Given the description of an element on the screen output the (x, y) to click on. 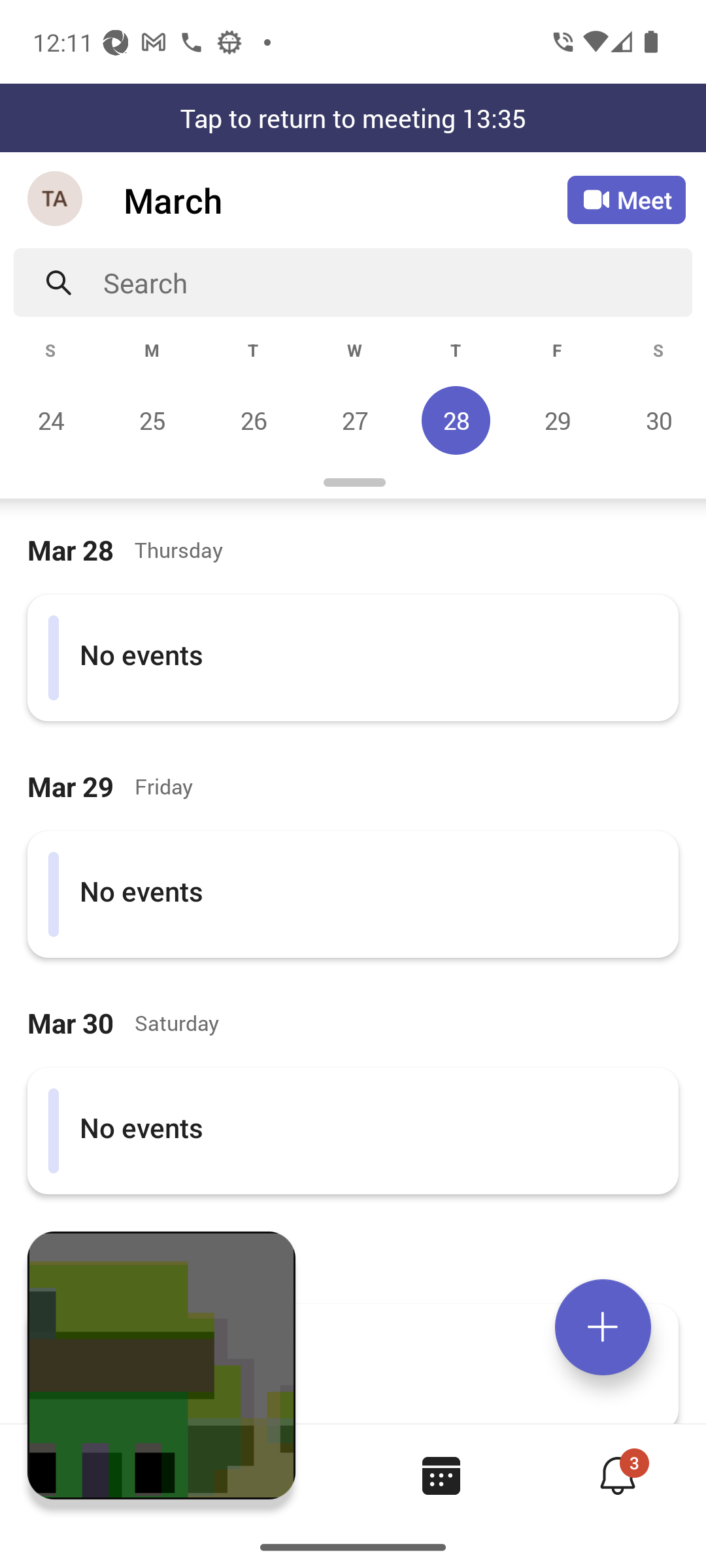
Tap to return to meeting 13:35 (353, 117)
Navigation (56, 199)
Meet Meet now or join with an ID (626, 199)
March March Calendar Agenda View (345, 199)
Search (397, 281)
Sunday, March 24 24 (50, 420)
Monday, March 25 25 (151, 420)
Tuesday, March 26 26 (253, 420)
Wednesday, March 27 27 (354, 420)
Thursday, March 28, Selected 28 (455, 420)
Friday, March 29 29 (556, 420)
Saturday, March 30 30 (656, 420)
Expand meetings menu (602, 1327)
Calendar tab, 3 of 4 (441, 1475)
Activity tab,4 of 4, not selected, 3 new 3 (617, 1475)
